Given the description of an element on the screen output the (x, y) to click on. 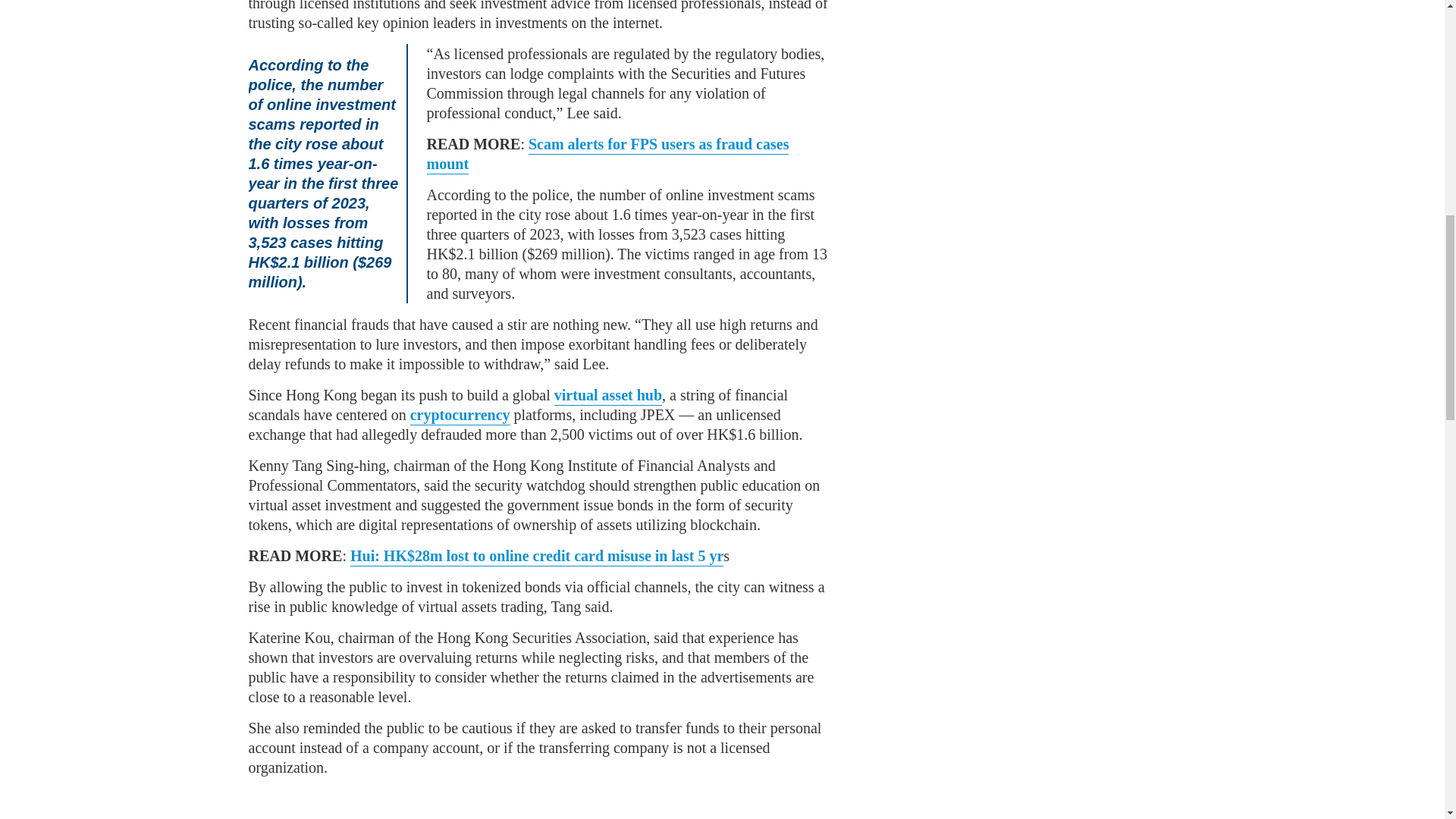
Investor education key to make HK trusted virtual asset hub (608, 395)
Scam alerts for FPS users as fraud cases mount (607, 154)
Hong Kong's cryptocurrency market must be safeguarded (460, 415)
